Given the description of an element on the screen output the (x, y) to click on. 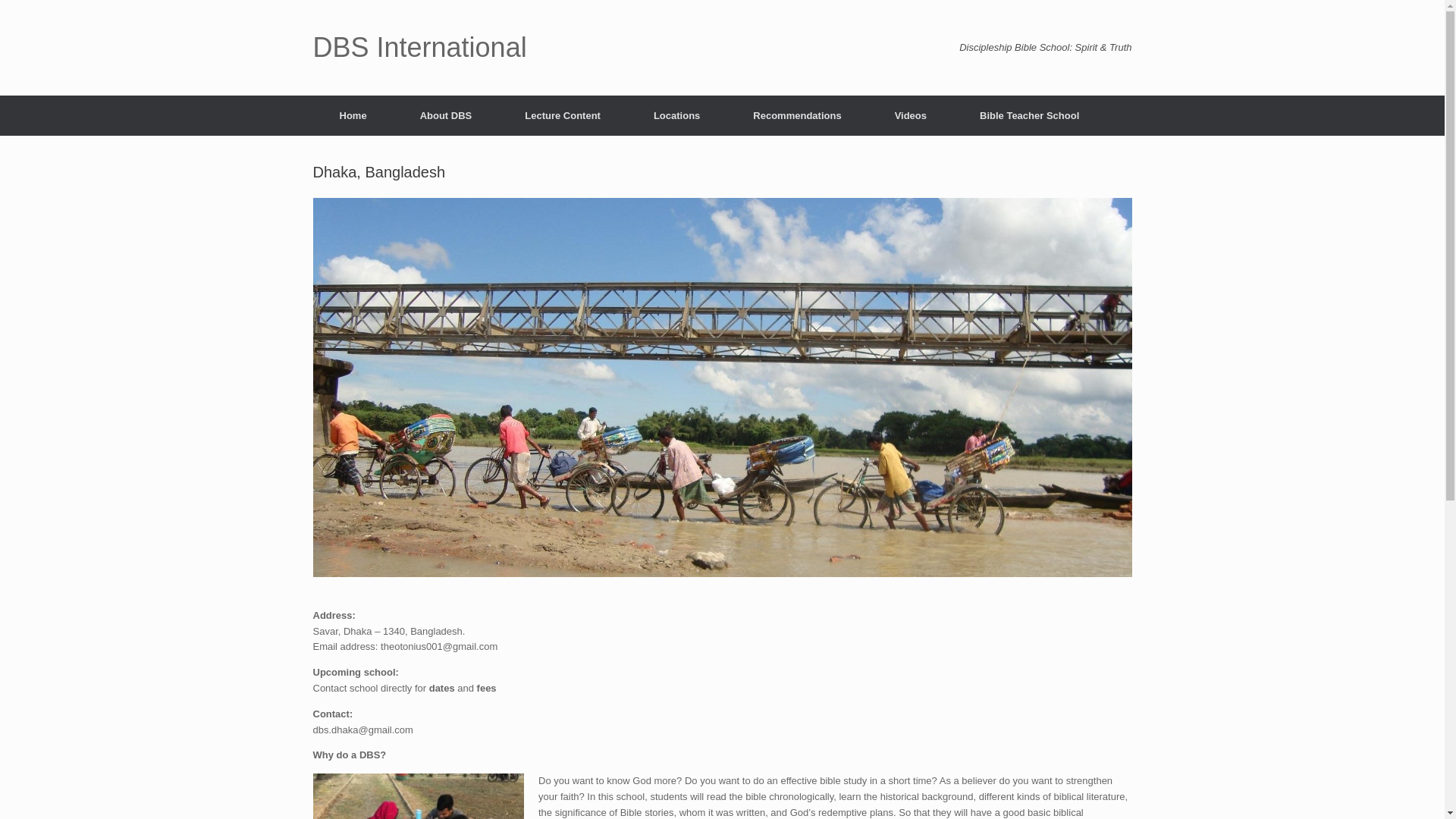
DBS International (419, 47)
Home (353, 115)
Locations (676, 115)
About DBS (446, 115)
Lecture Content (562, 115)
DBS International (419, 47)
